Given the description of an element on the screen output the (x, y) to click on. 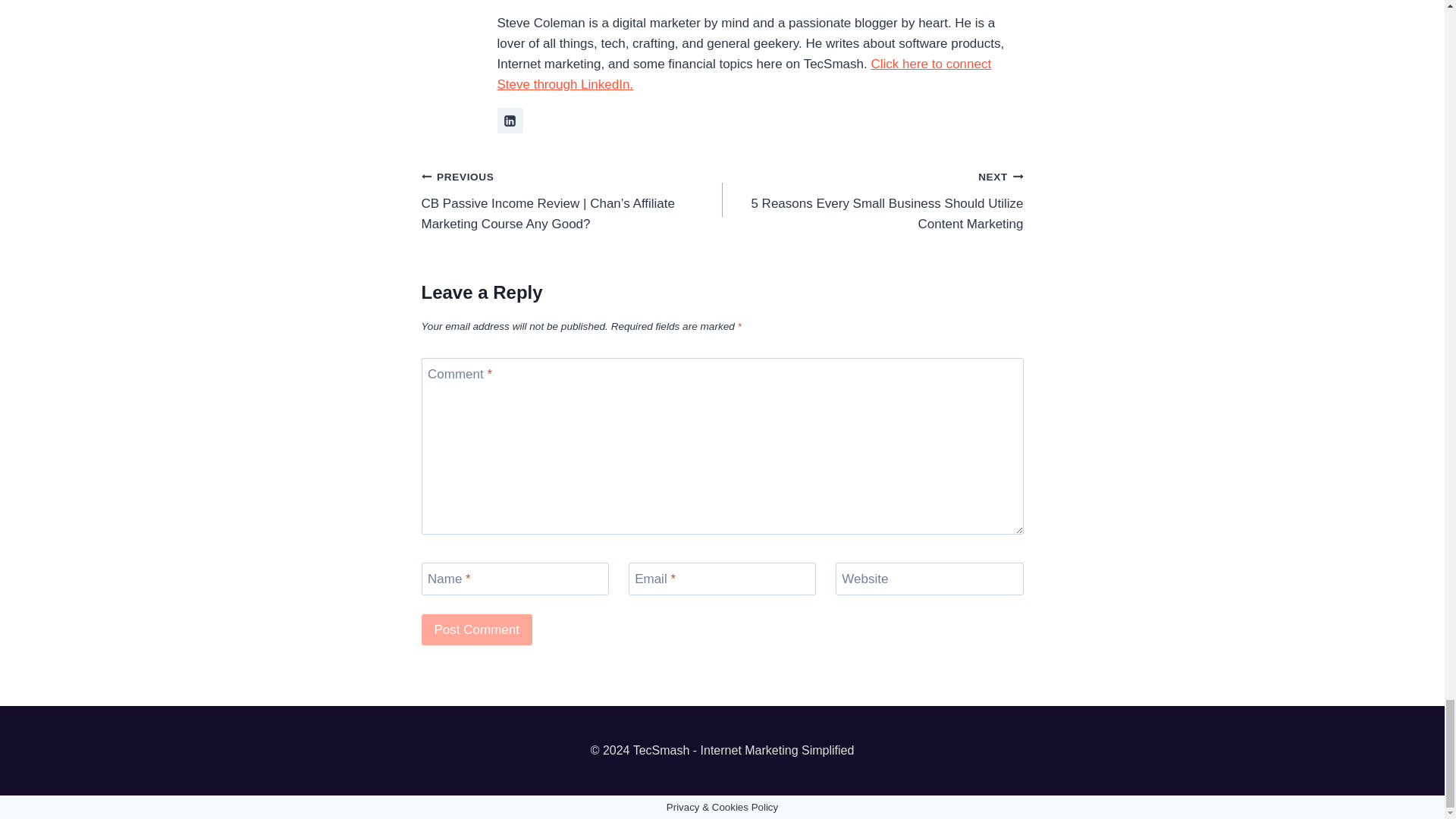
Click here to connect Steve through LinkedIn. (744, 73)
Post Comment (477, 629)
Follow Steve Coleman on Linkedin (509, 120)
Post Comment (477, 629)
